Given the description of an element on the screen output the (x, y) to click on. 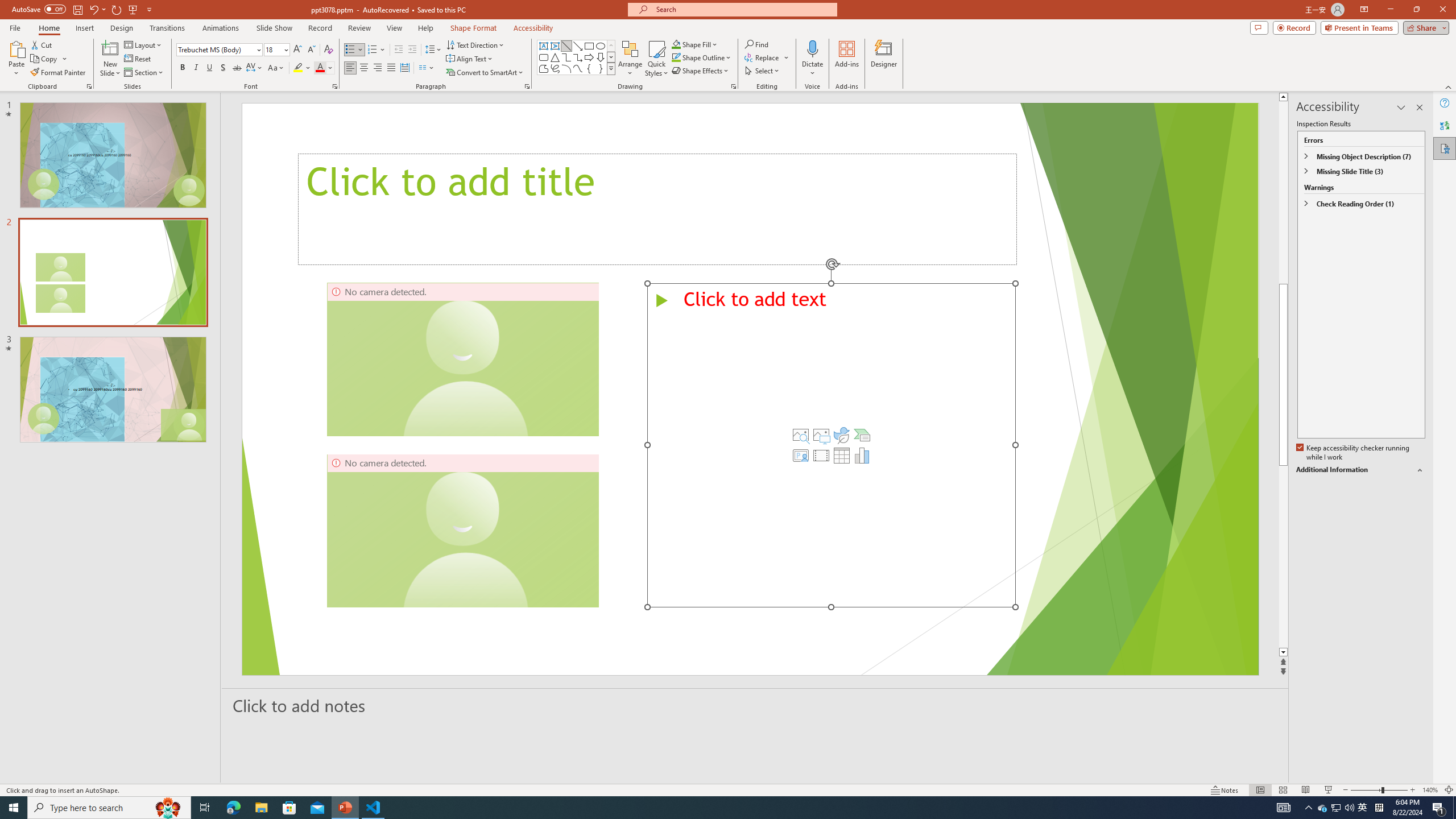
Insert Video (820, 455)
